Given the description of an element on the screen output the (x, y) to click on. 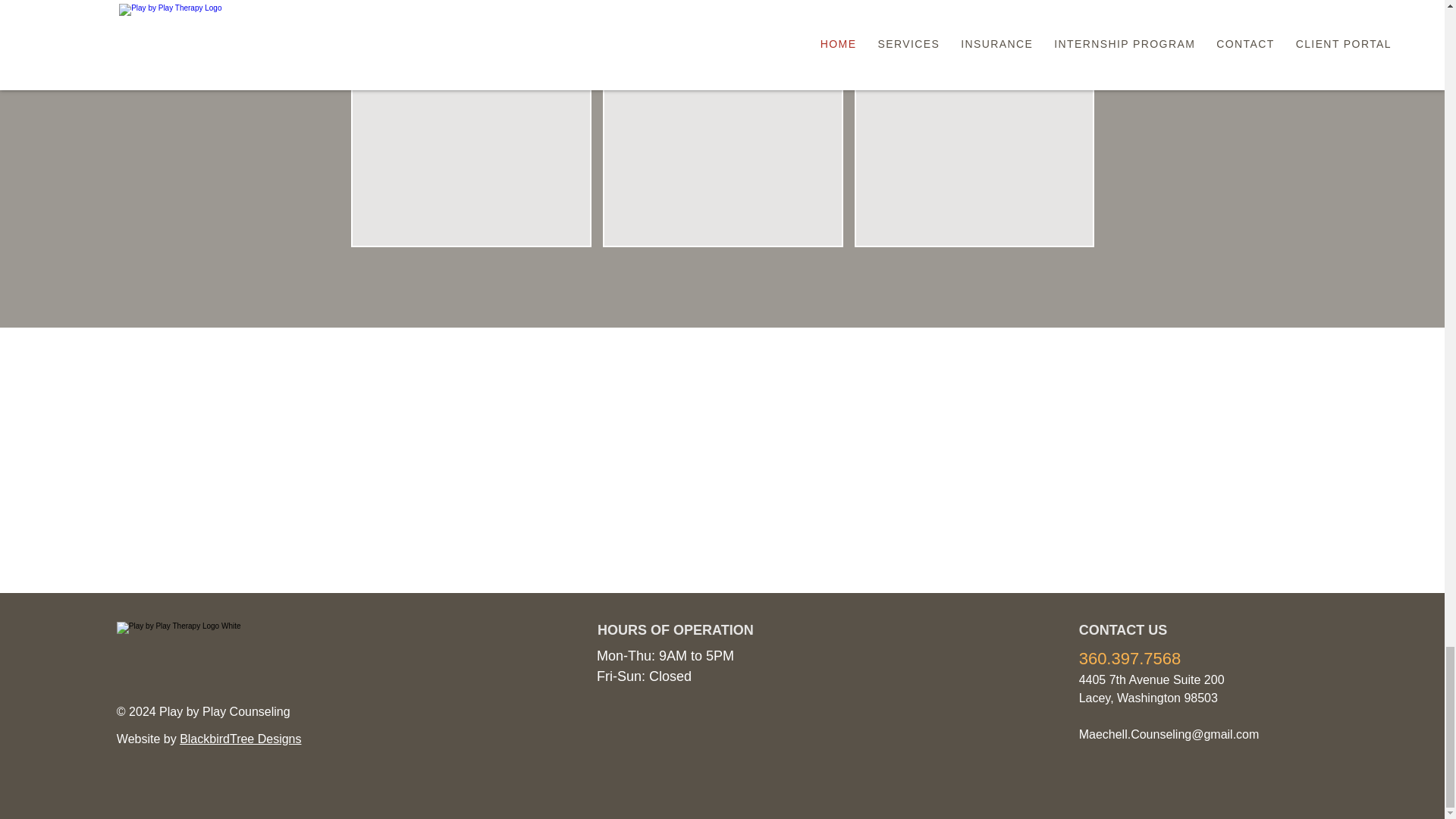
BlackbirdTree Designs (240, 738)
360.397.7568 (1129, 658)
